Given the description of an element on the screen output the (x, y) to click on. 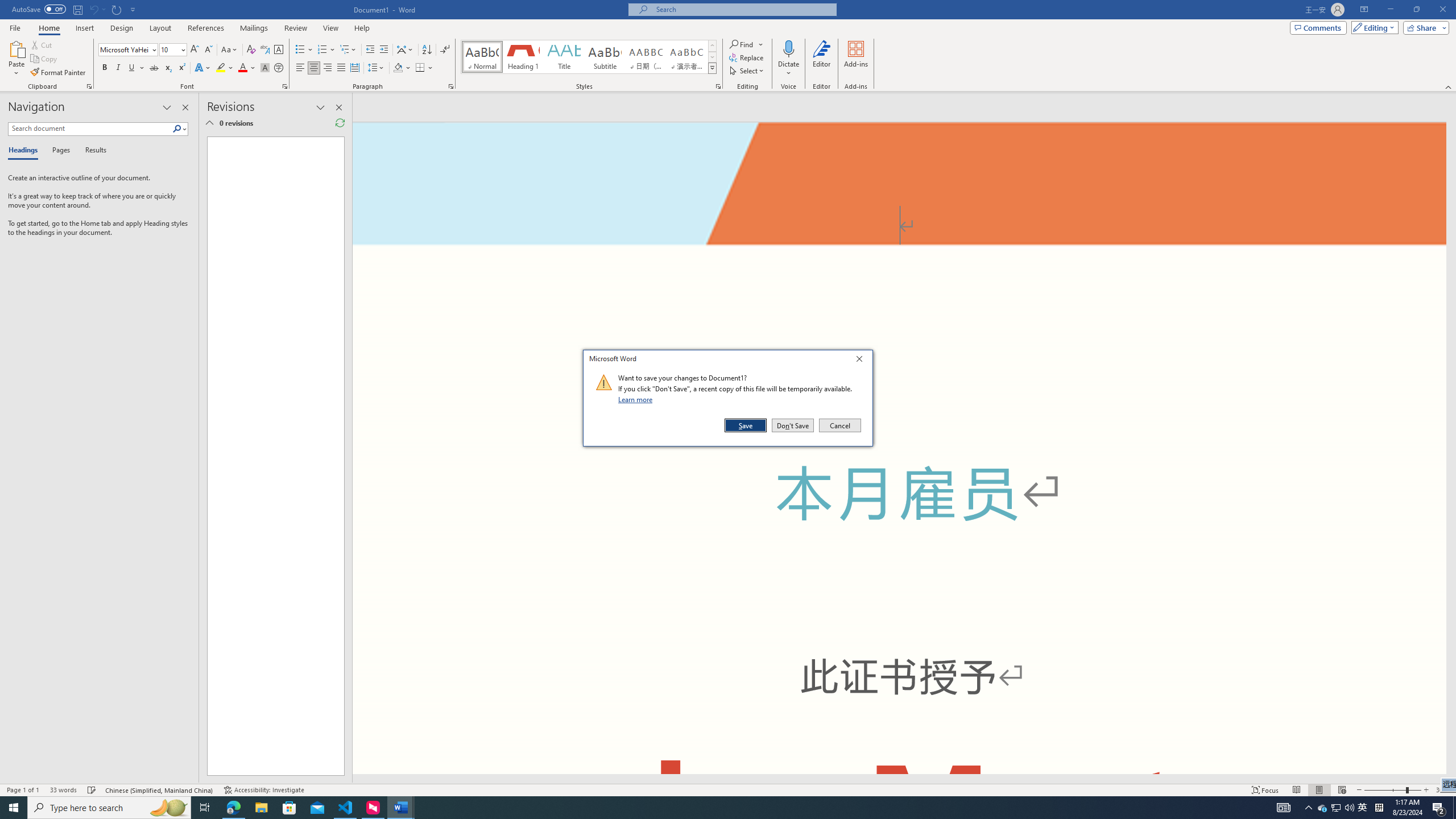
Running applications (700, 807)
